Given the description of an element on the screen output the (x, y) to click on. 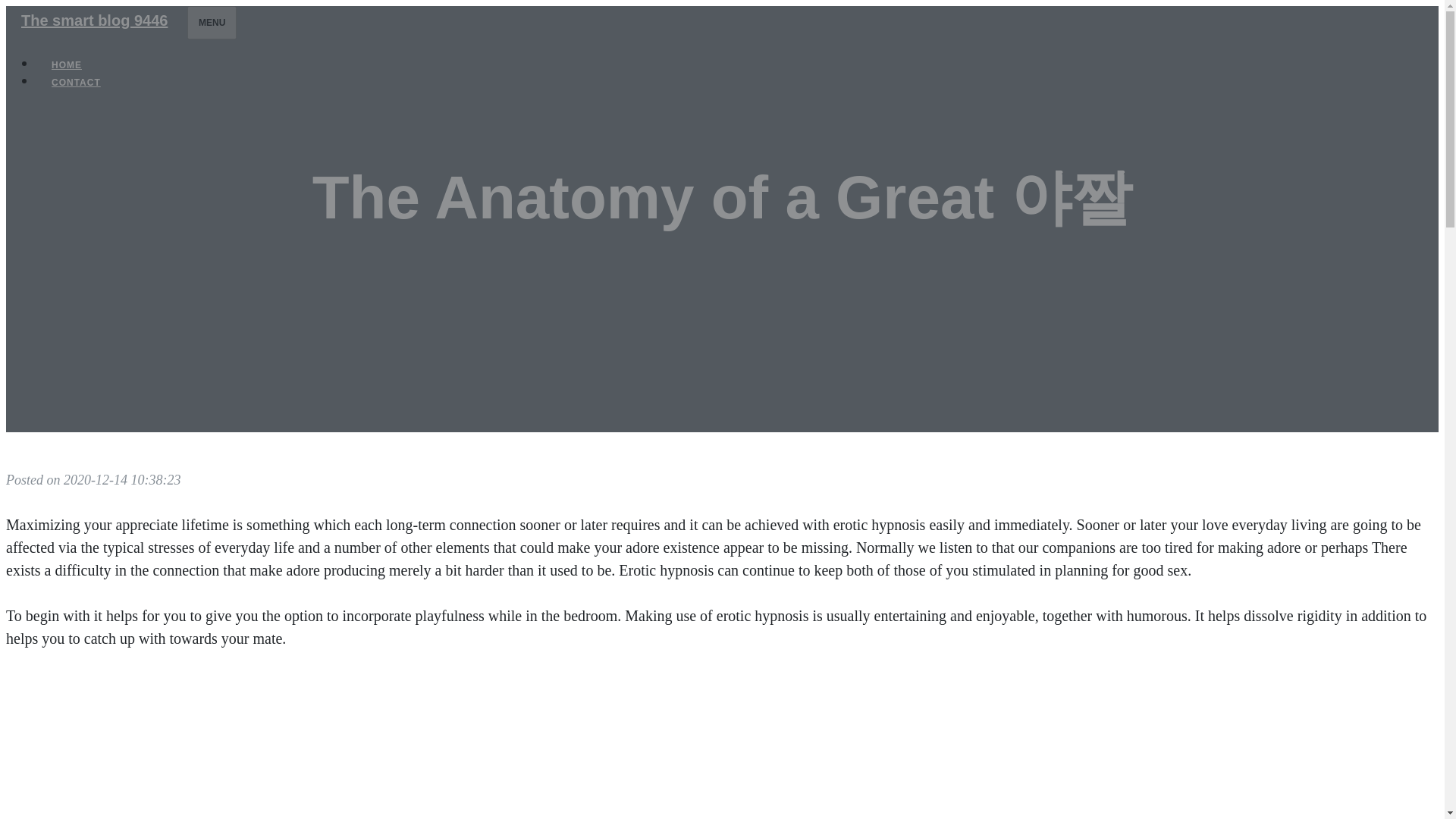
HOME (66, 64)
The smart blog 9446 (94, 20)
MENU (211, 22)
CONTACT (76, 82)
